Given the description of an element on the screen output the (x, y) to click on. 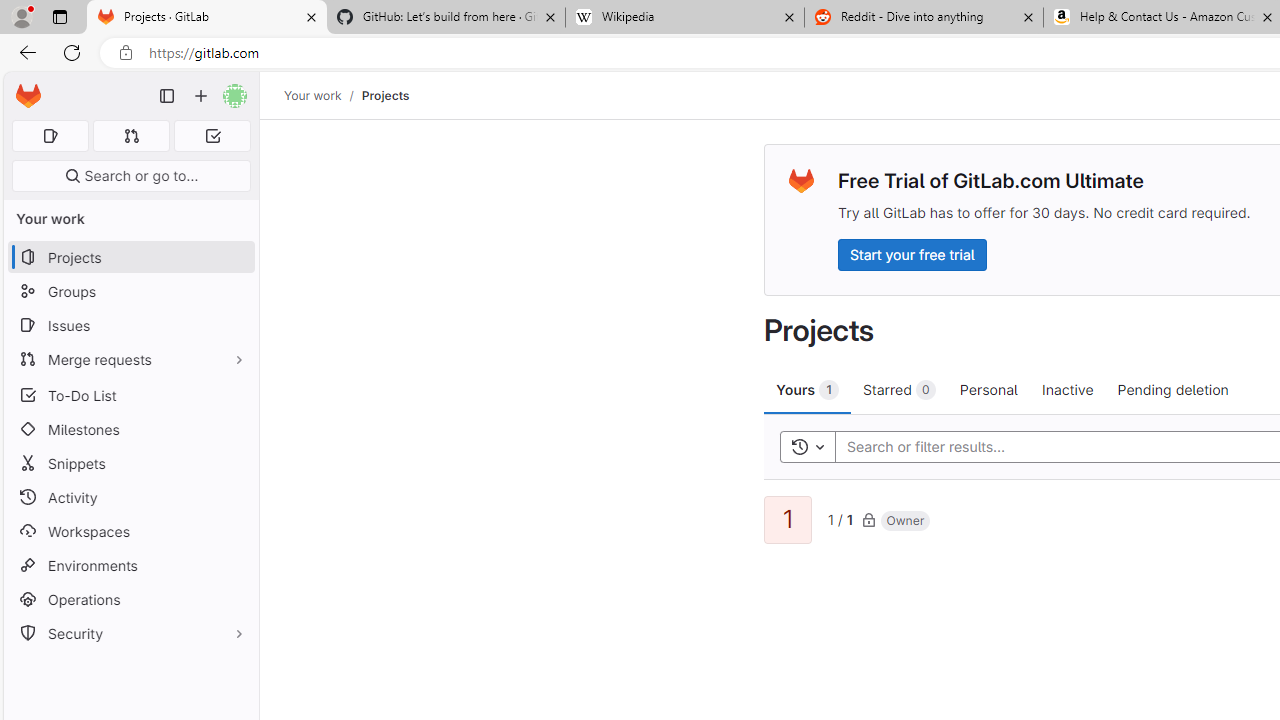
Personal (988, 389)
Environments (130, 564)
Operations (130, 599)
1 / 1 (840, 518)
Primary navigation sidebar (167, 96)
Create new... (201, 96)
Merge requests (130, 358)
Environments (130, 564)
Pending deletion (1172, 389)
Milestones (130, 429)
